Given the description of an element on the screen output the (x, y) to click on. 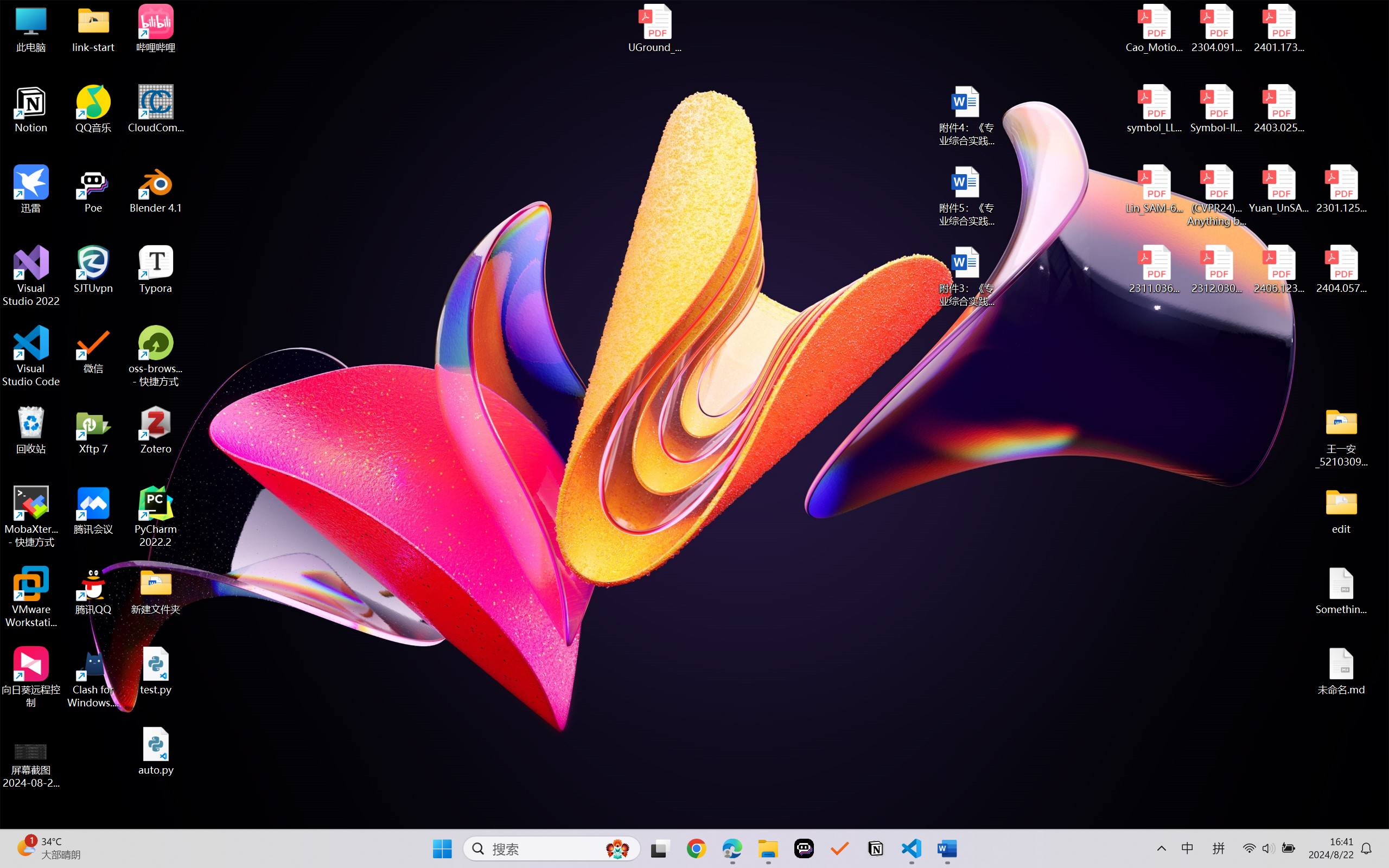
2301.12597v3.pdf (1340, 189)
edit (1340, 510)
UGround_paper.pdf (654, 28)
Symbol-llm-v2.pdf (1216, 109)
Google Chrome (696, 848)
